Given the description of an element on the screen output the (x, y) to click on. 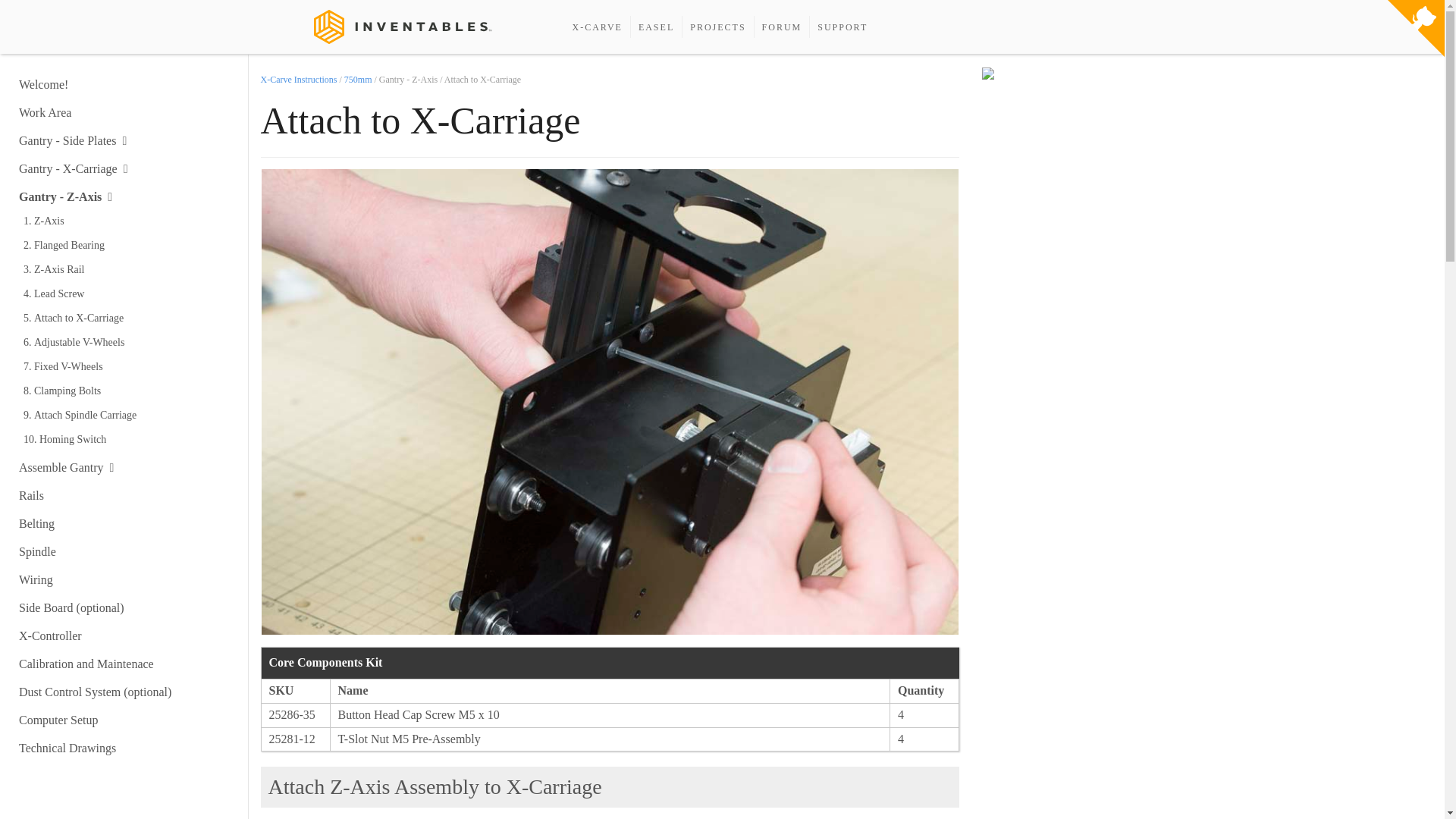
Gantry - X-Carriage   (73, 168)
Welcome! (43, 83)
Work Area (44, 112)
Gantry - Z-Axis   (65, 196)
Homing Switch (131, 439)
EASEL (656, 27)
FORUM (781, 27)
SUPPORT (841, 27)
Assemble Gantry   (65, 467)
Attach to X-Carriage (131, 317)
